Given the description of an element on the screen output the (x, y) to click on. 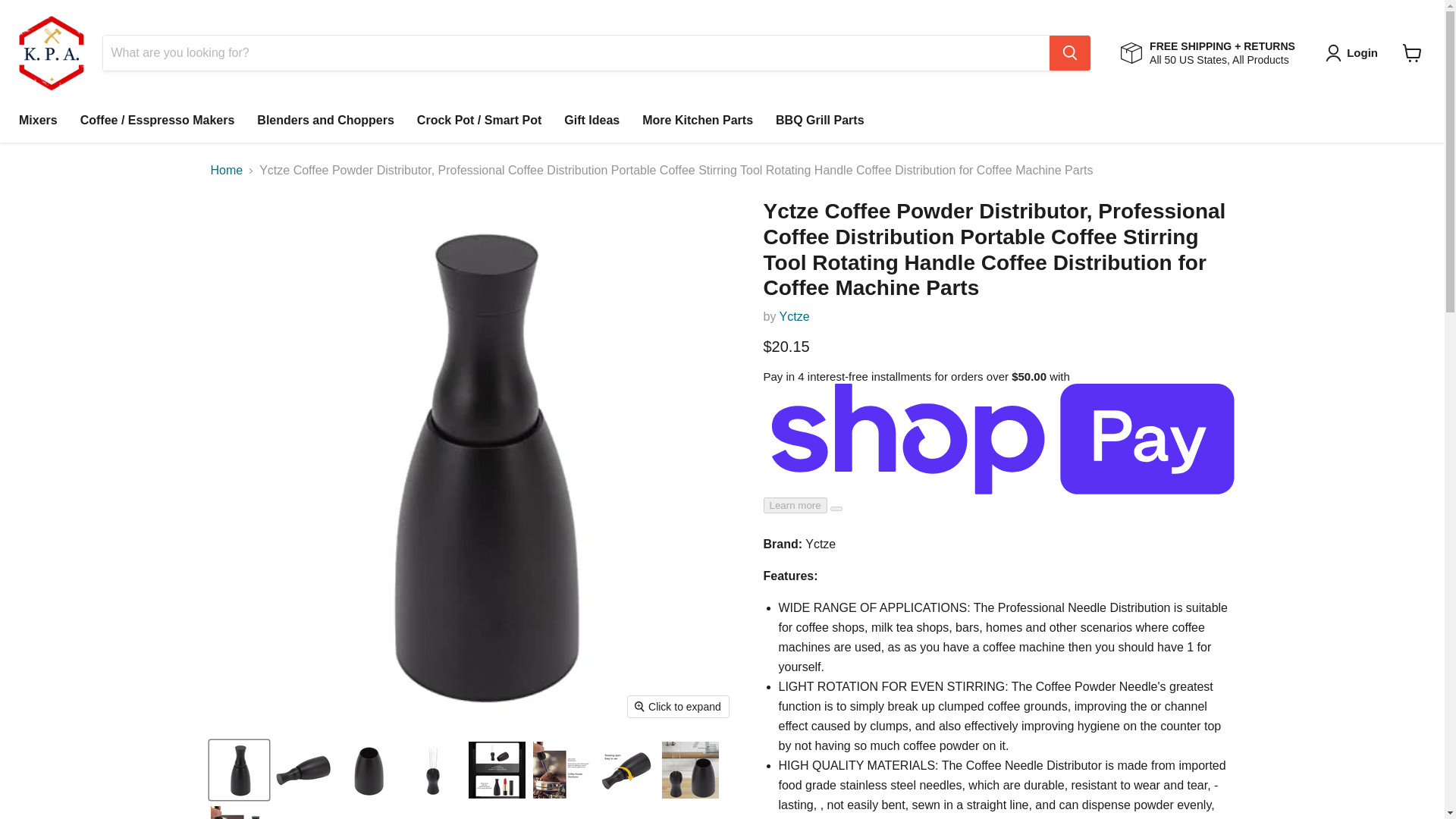
Login (1354, 53)
View cart (1411, 52)
Home (227, 170)
Blenders and Choppers (325, 120)
Mixers (37, 120)
BBQ Grill Parts (819, 120)
Yctze (793, 316)
Click to expand (678, 706)
Gift Ideas (591, 120)
More Kitchen Parts (697, 120)
